Given the description of an element on the screen output the (x, y) to click on. 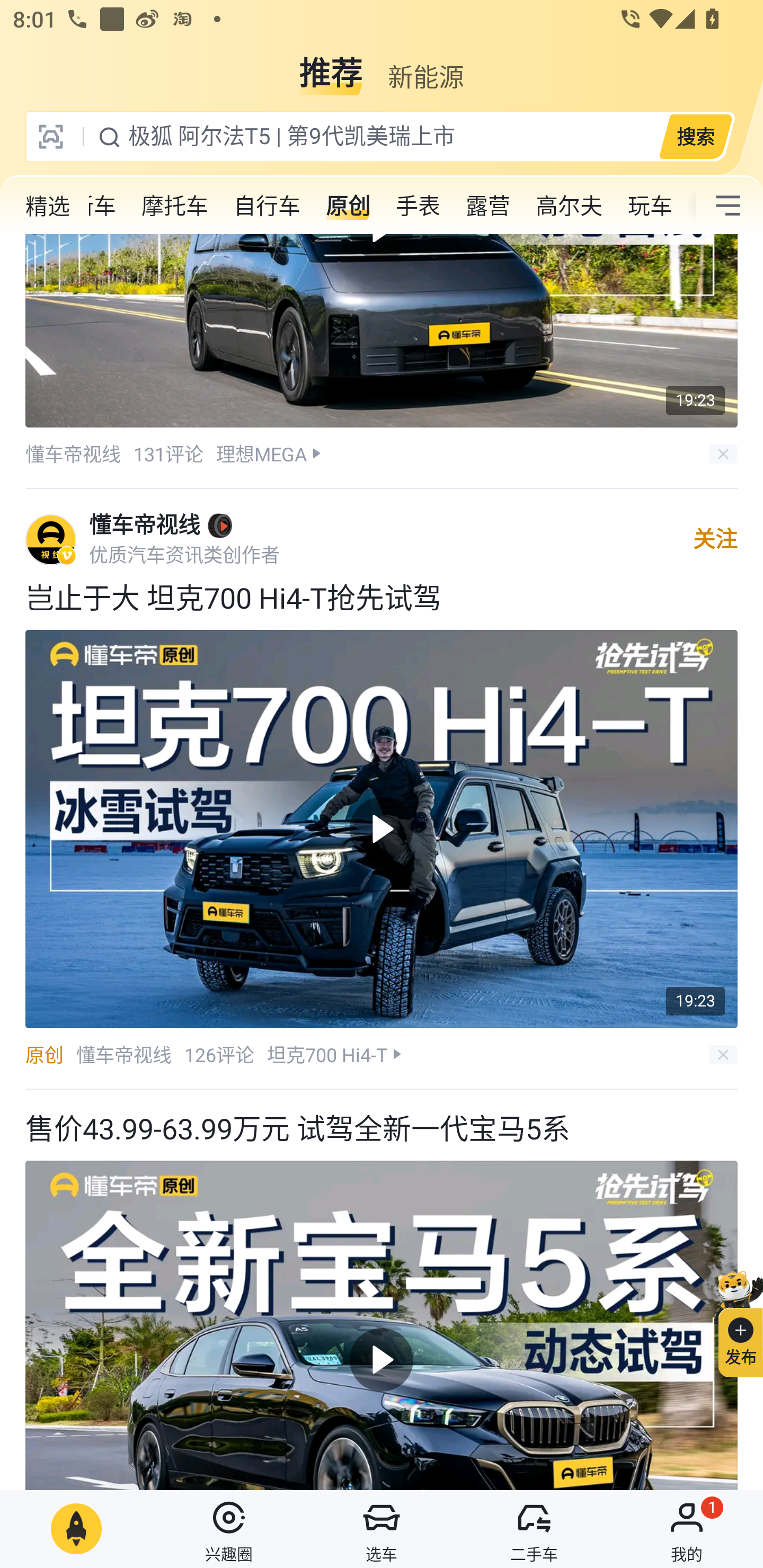
推荐 (330, 65)
新能源 (425, 65)
搜索 (695, 136)
摩托车 (174, 205)
自行车 (266, 205)
原创 (347, 205)
手表 (418, 205)
露营 (487, 205)
高尔夫 (568, 205)
玩车 (649, 205)
 (727, 205)
精选 (47, 206)
 19:23 懂车帝视线 131评论 理想MEGA (381, 361)
理想MEGA (260, 453)
懂车帝视线 (144, 524)
关注 (714, 539)
原创 (44, 1054)
坦克700 Hi4-T (327, 1054)
售价43.99-63.99万元 试驾全新一代宝马5系  (381, 1289)
发布 (732, 1321)
 兴趣圈 (228, 1528)
 选车 (381, 1528)
 二手车 (533, 1528)
 我的 (686, 1528)
